Given the description of an element on the screen output the (x, y) to click on. 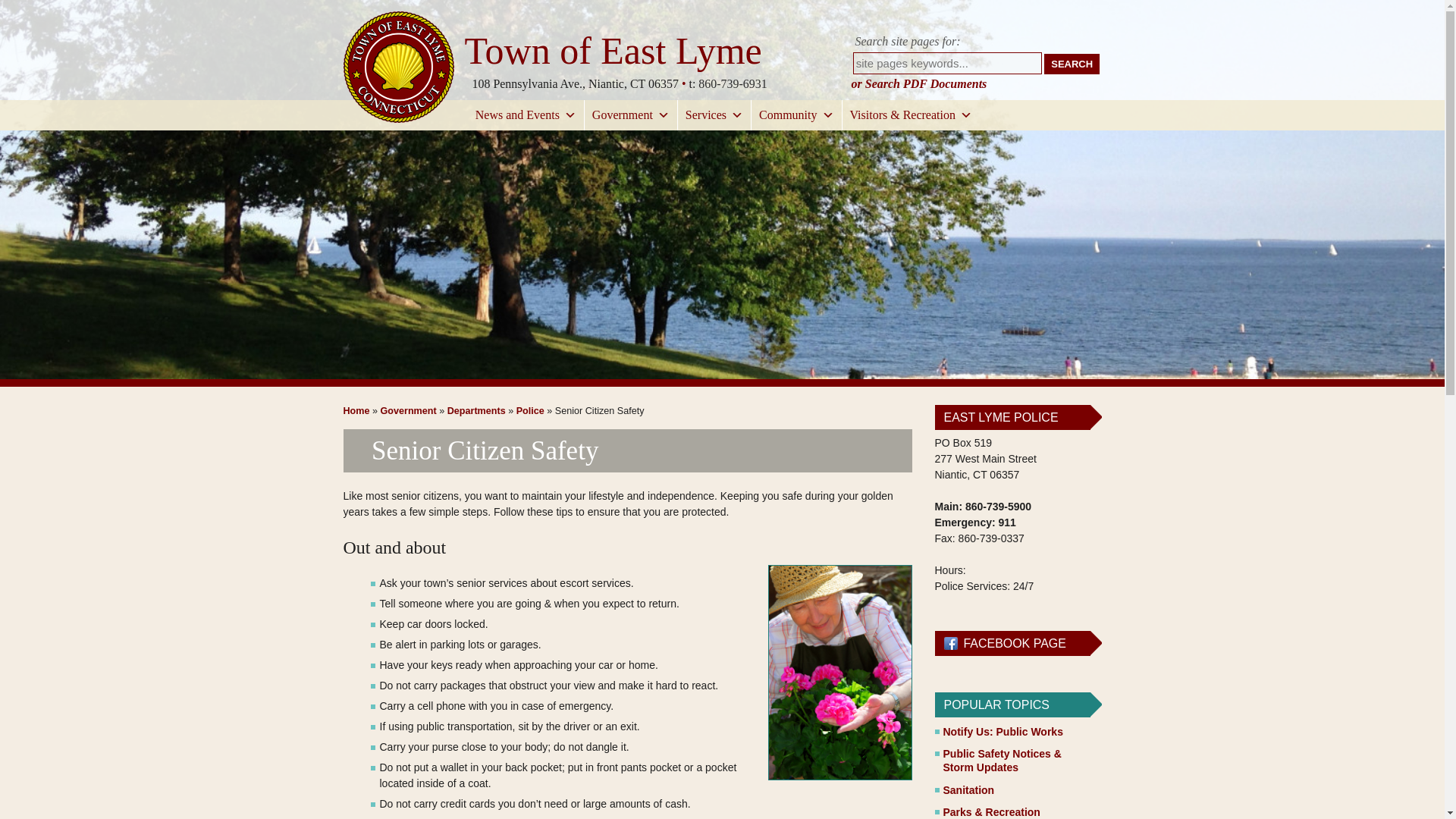
News and Events (525, 114)
SEARCH (1071, 64)
Government (631, 114)
SEARCH (1071, 64)
or Search PDF Documents (918, 83)
Skip to content (65, 110)
Town of East Lyme (614, 51)
Click Search button to search site pages. (1071, 64)
SEARCH (1071, 64)
Town of East Lyme (614, 51)
Skip to content (65, 110)
860-739-6931 (732, 83)
